Given the description of an element on the screen output the (x, y) to click on. 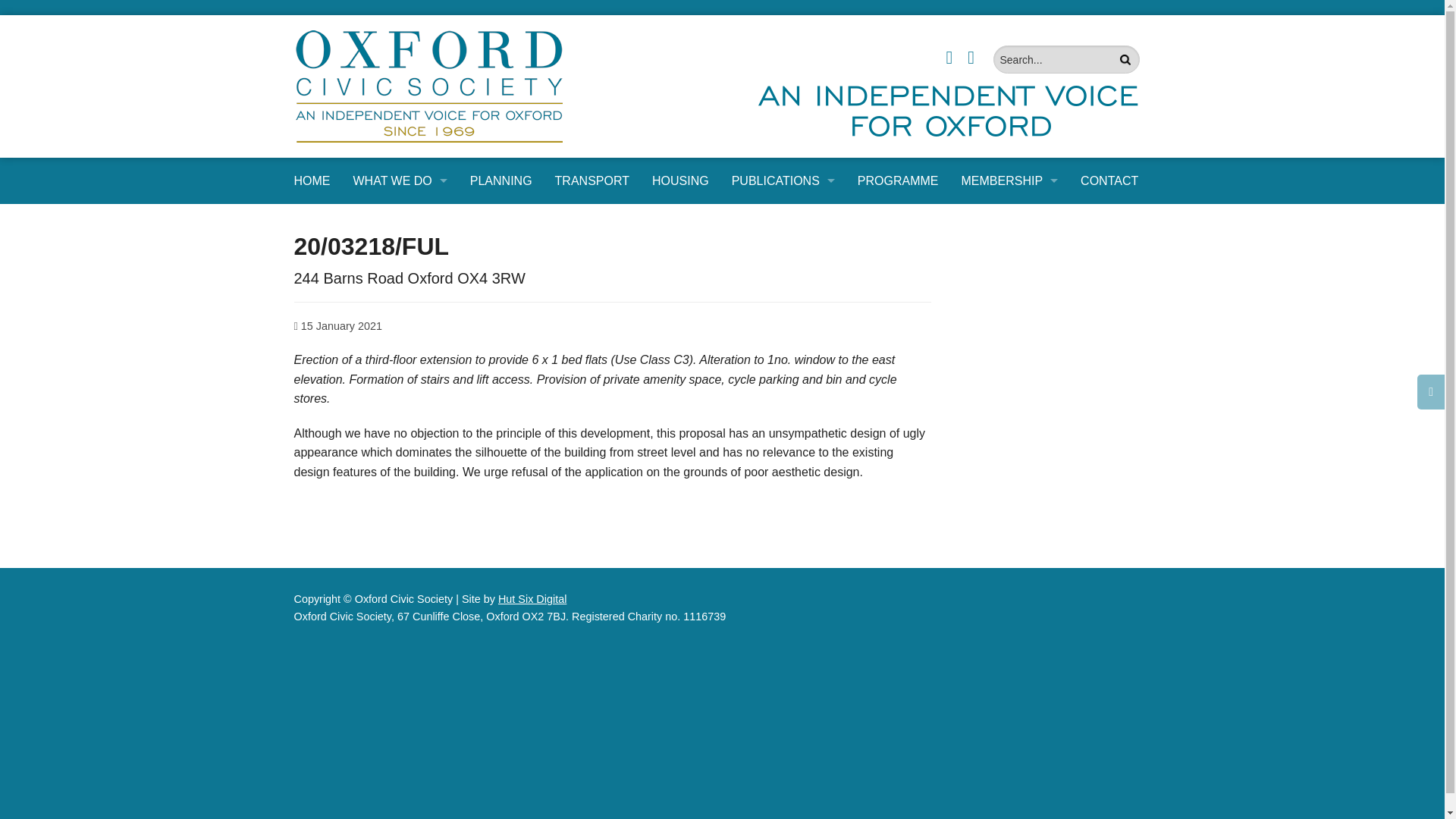
PROGRAMME (897, 180)
PLANNING (399, 254)
TRANSPORT (591, 180)
OXCLEAN (399, 357)
WHAT WE DO (399, 180)
WALKS IN OXFORD (399, 528)
STREETS FOR PEOPLE (399, 493)
GOVERNANCE (399, 425)
HOUSING (680, 180)
BOOKS AND PAMPHLETS (782, 254)
